Given the description of an element on the screen output the (x, y) to click on. 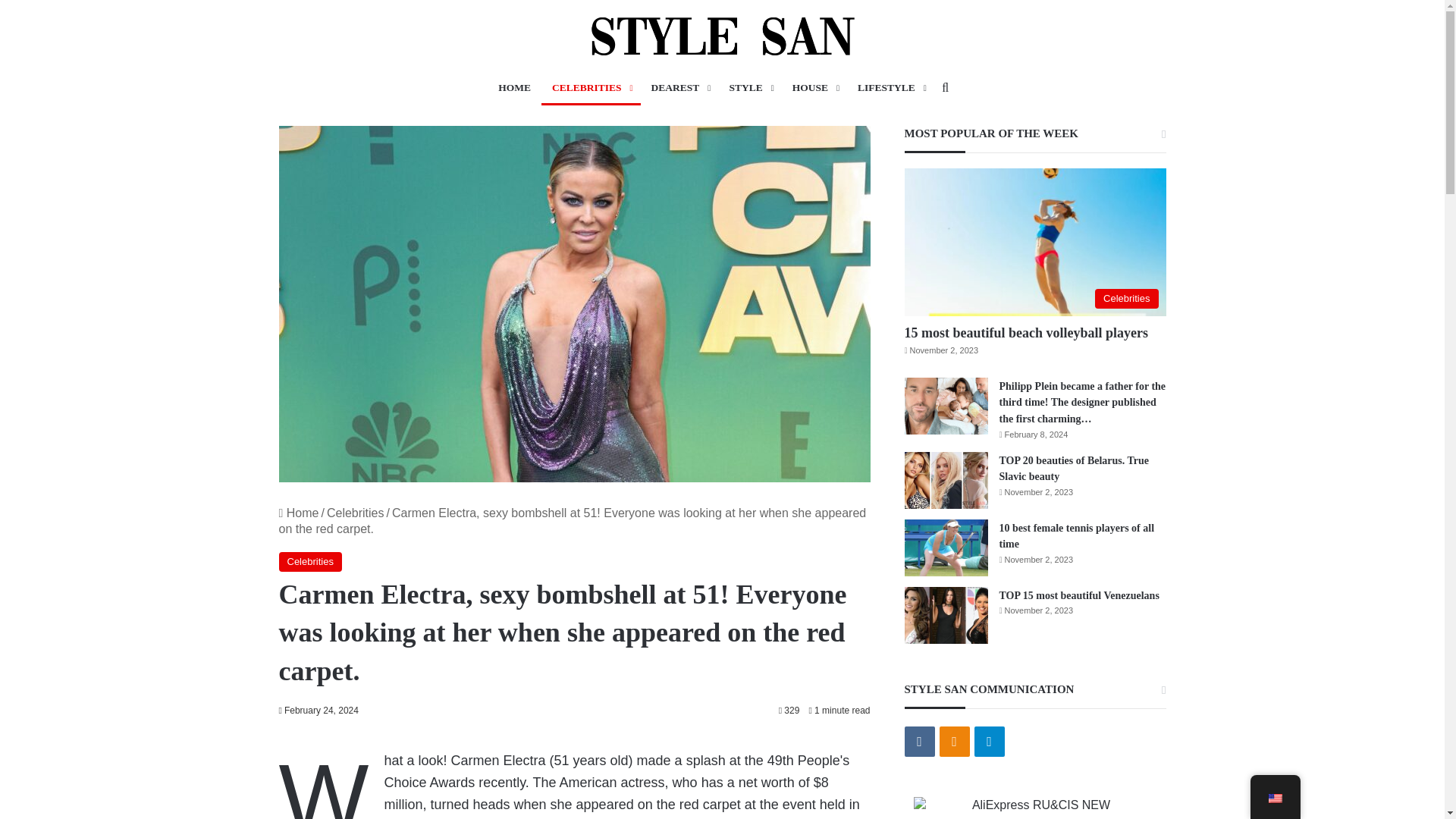
HOUSE (814, 87)
DEAREST (679, 87)
LIFESTYLE (890, 87)
Celebrities (310, 561)
STYLE (748, 87)
CELEBRITIES (590, 87)
Home (298, 512)
Stylish life (722, 36)
Celebrities (355, 512)
HOME (514, 87)
